Given the description of an element on the screen output the (x, y) to click on. 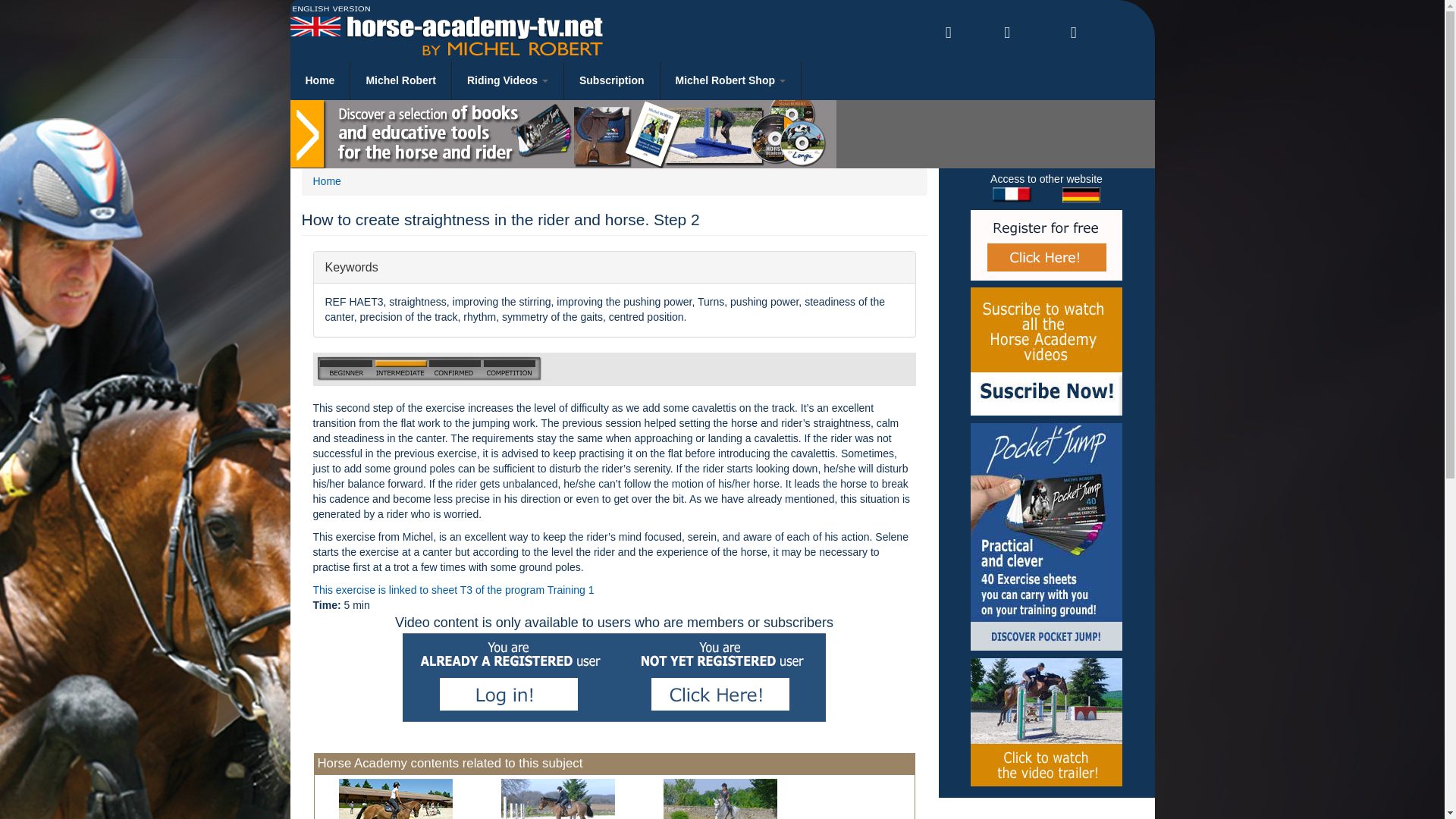
Subscription (612, 80)
Home (326, 181)
Horse Academy (319, 80)
Home (445, 30)
Subscribe! (1046, 351)
Home (319, 80)
Riding Videos (614, 266)
Video trailer (507, 80)
Riding Videos (1046, 722)
Register for free (507, 80)
Learn how to control your mind when approaching a fence (1046, 244)
Michel Robert Shop (557, 798)
Michel Robert (731, 80)
